Given the description of an element on the screen output the (x, y) to click on. 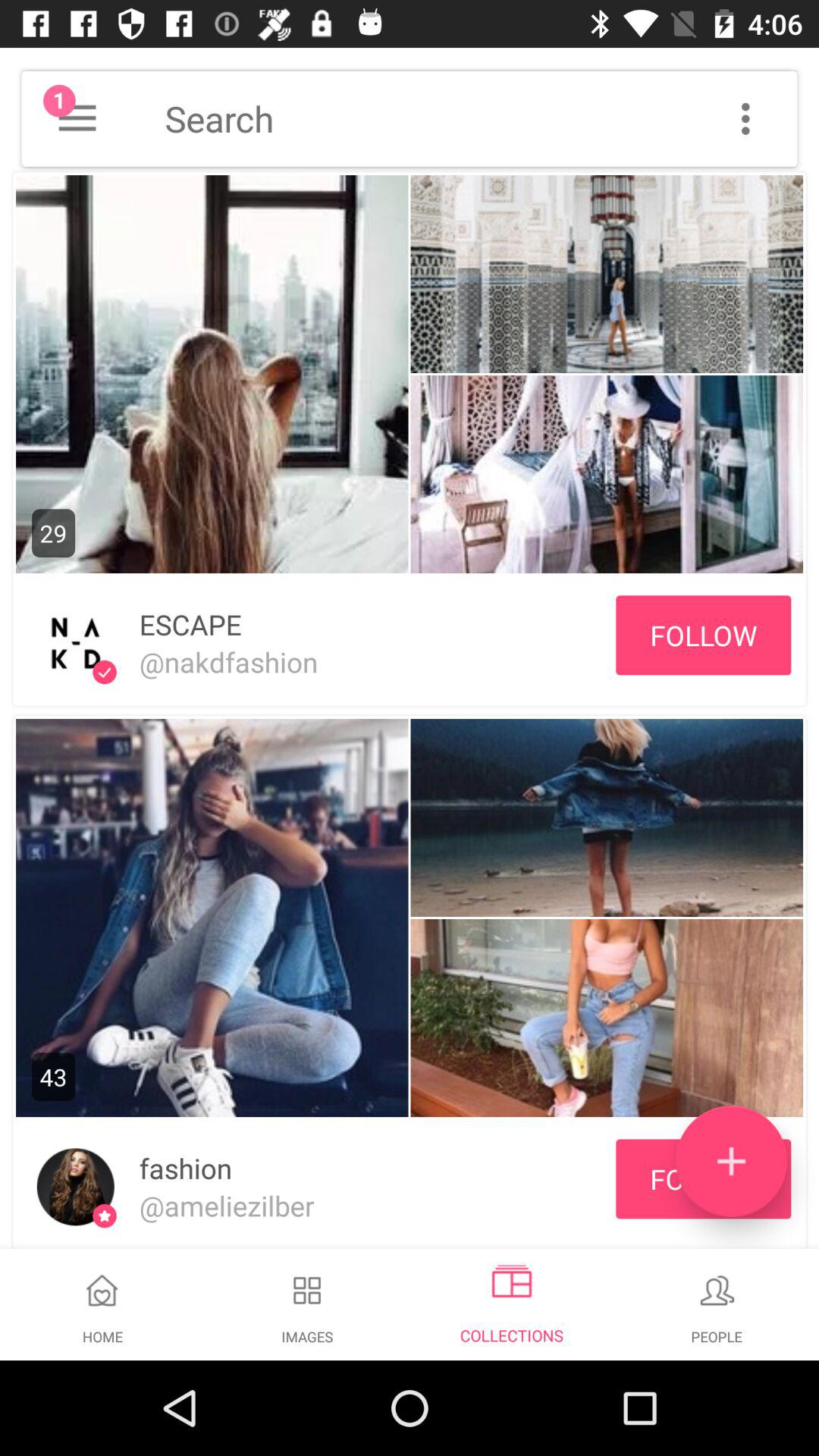
select main menu (77, 118)
